Given the description of an element on the screen output the (x, y) to click on. 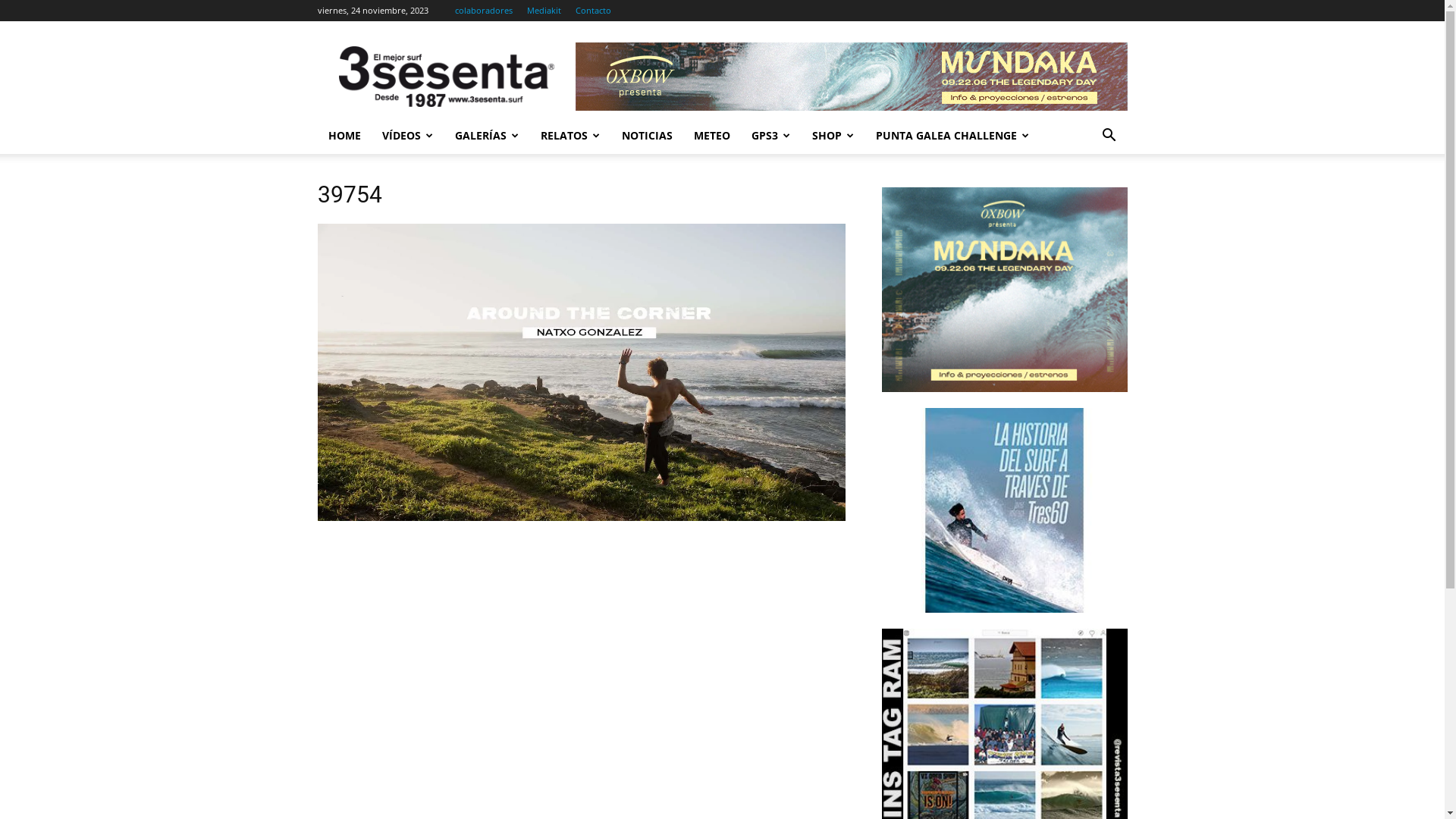
GPS3 Element type: text (770, 135)
PUNTA GALEA CHALLENGE Element type: text (951, 135)
NOTICIAS Element type: text (647, 135)
Mediakit Element type: text (543, 9)
Contacto Element type: text (592, 9)
3sesenta_surf Element type: hover (445, 76)
METEO Element type: text (711, 135)
SHOP Element type: text (832, 135)
RELATOS Element type: text (569, 135)
39754 Element type: hover (580, 517)
Buscar Element type: text (1085, 196)
HOME Element type: text (343, 135)
colaboradores Element type: text (483, 9)
